Given the description of an element on the screen output the (x, y) to click on. 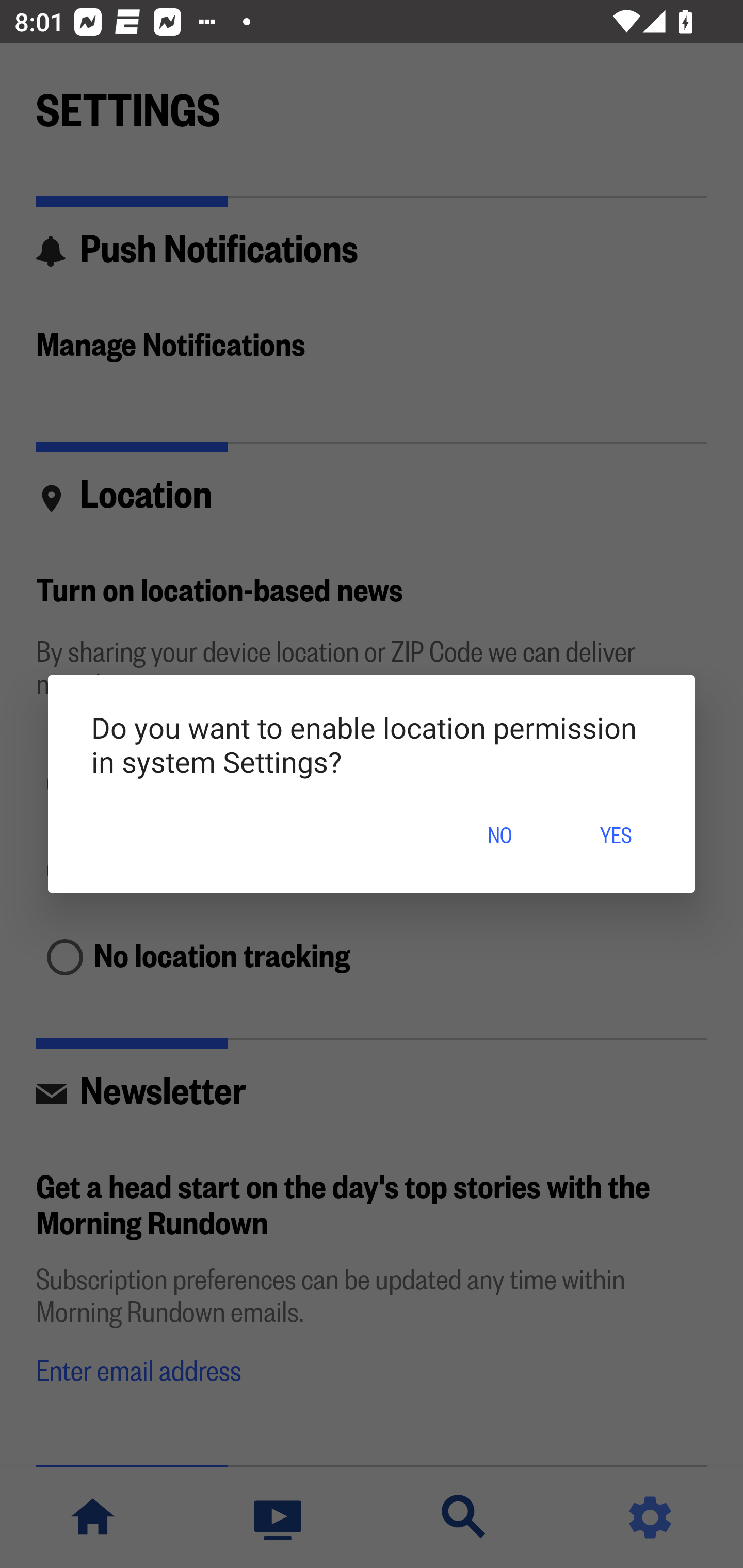
NO (499, 836)
YES (615, 836)
